Given the description of an element on the screen output the (x, y) to click on. 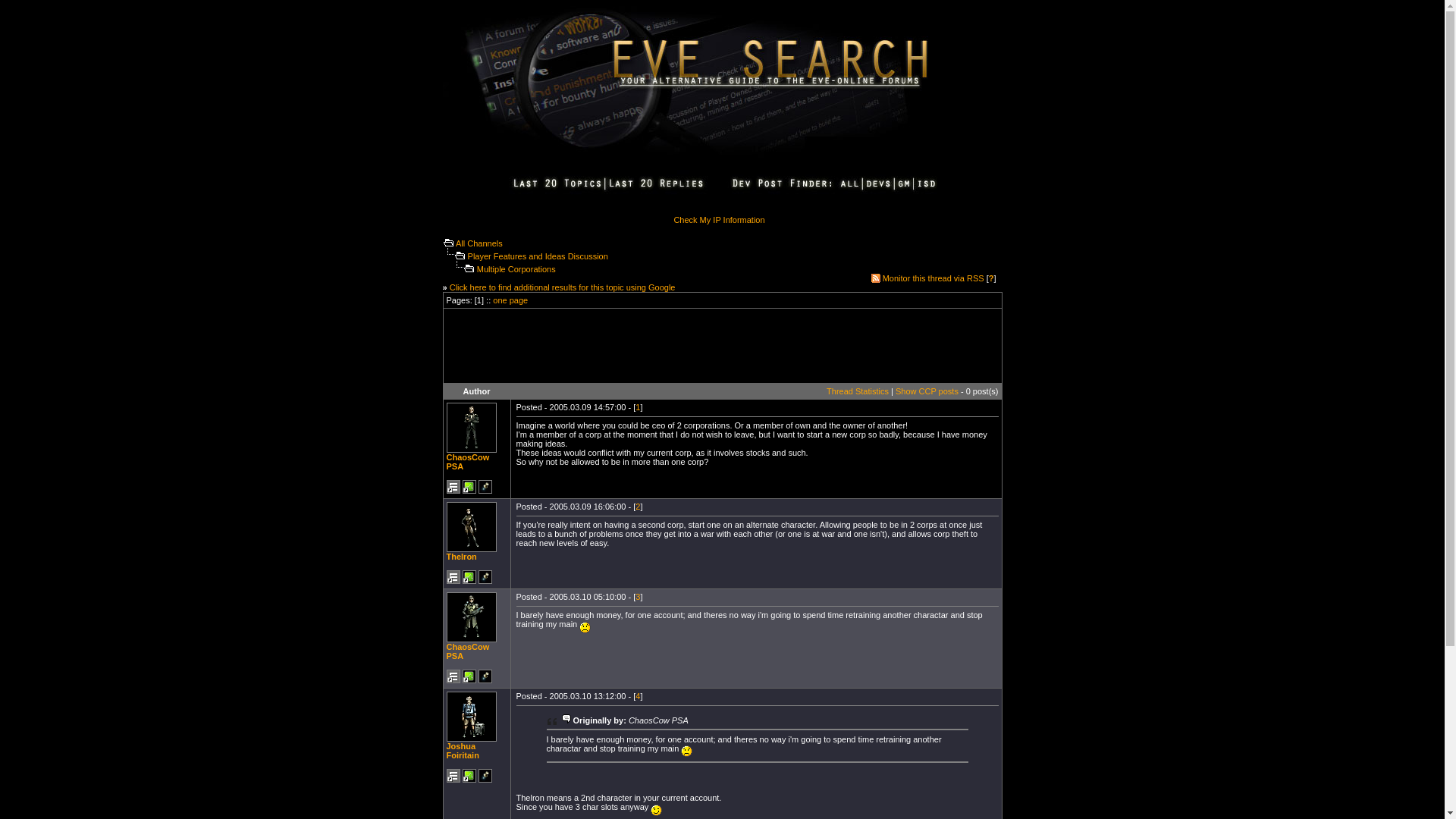
Joshua Foiritain (470, 716)
View author posting habits (469, 486)
Take me to the EVE-Online forum thread (452, 486)
ChaosCow PSA (467, 461)
ChaosCow PSA (470, 617)
Take me to the EVE-Online forum thread (452, 676)
Take me to the EVE-Online forum thread (452, 775)
one page (510, 299)
Show CCP posts (926, 390)
View author posting habits (469, 775)
View author posting habits (469, 676)
View author posting habits (469, 576)
Thelron (470, 527)
Take me to the EVE-Online forum thread (452, 576)
